Given the description of an element on the screen output the (x, y) to click on. 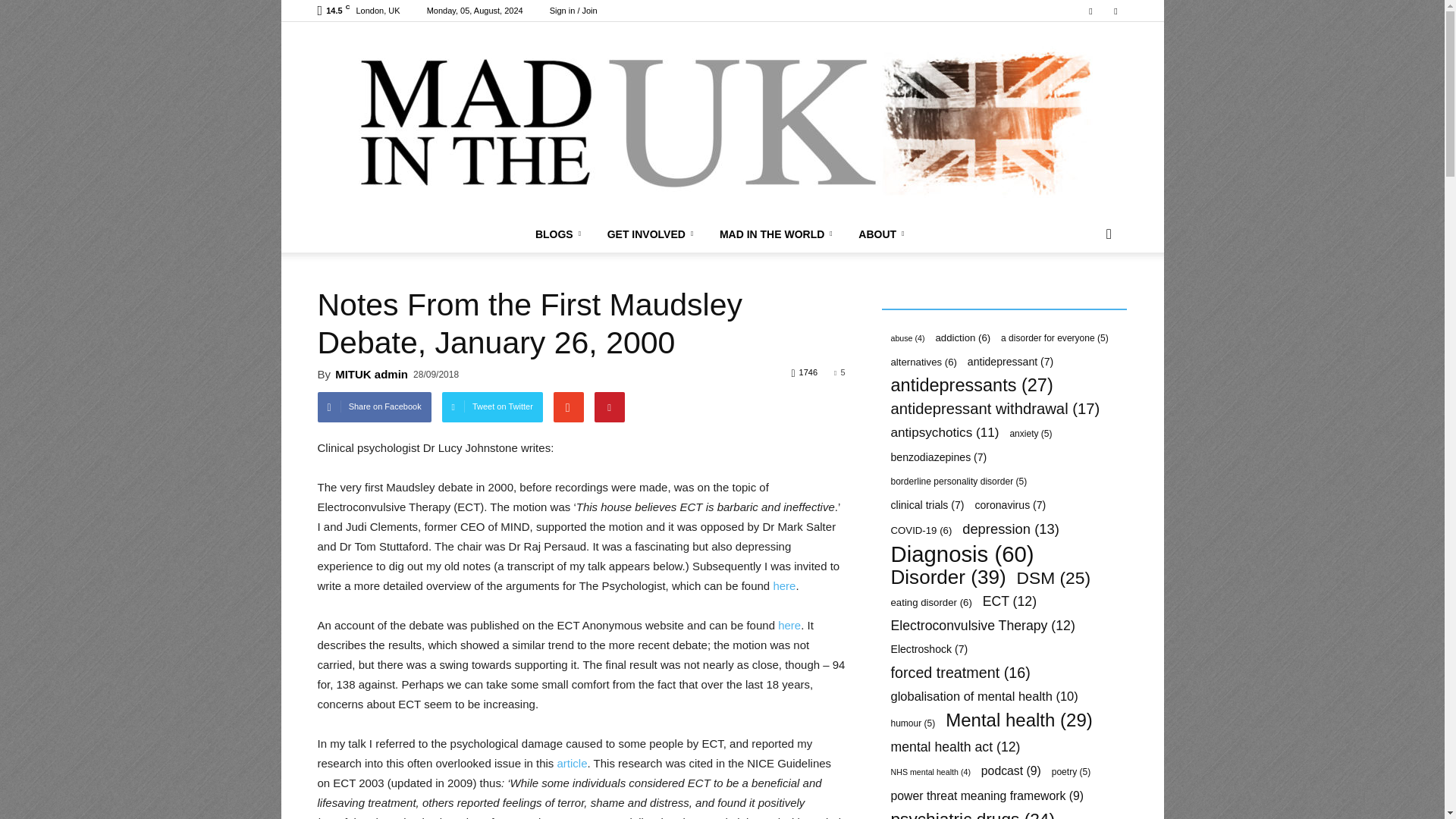
Posts by MITUK admin (370, 373)
Twitter (1114, 10)
Facebook (1090, 10)
